Given the description of an element on the screen output the (x, y) to click on. 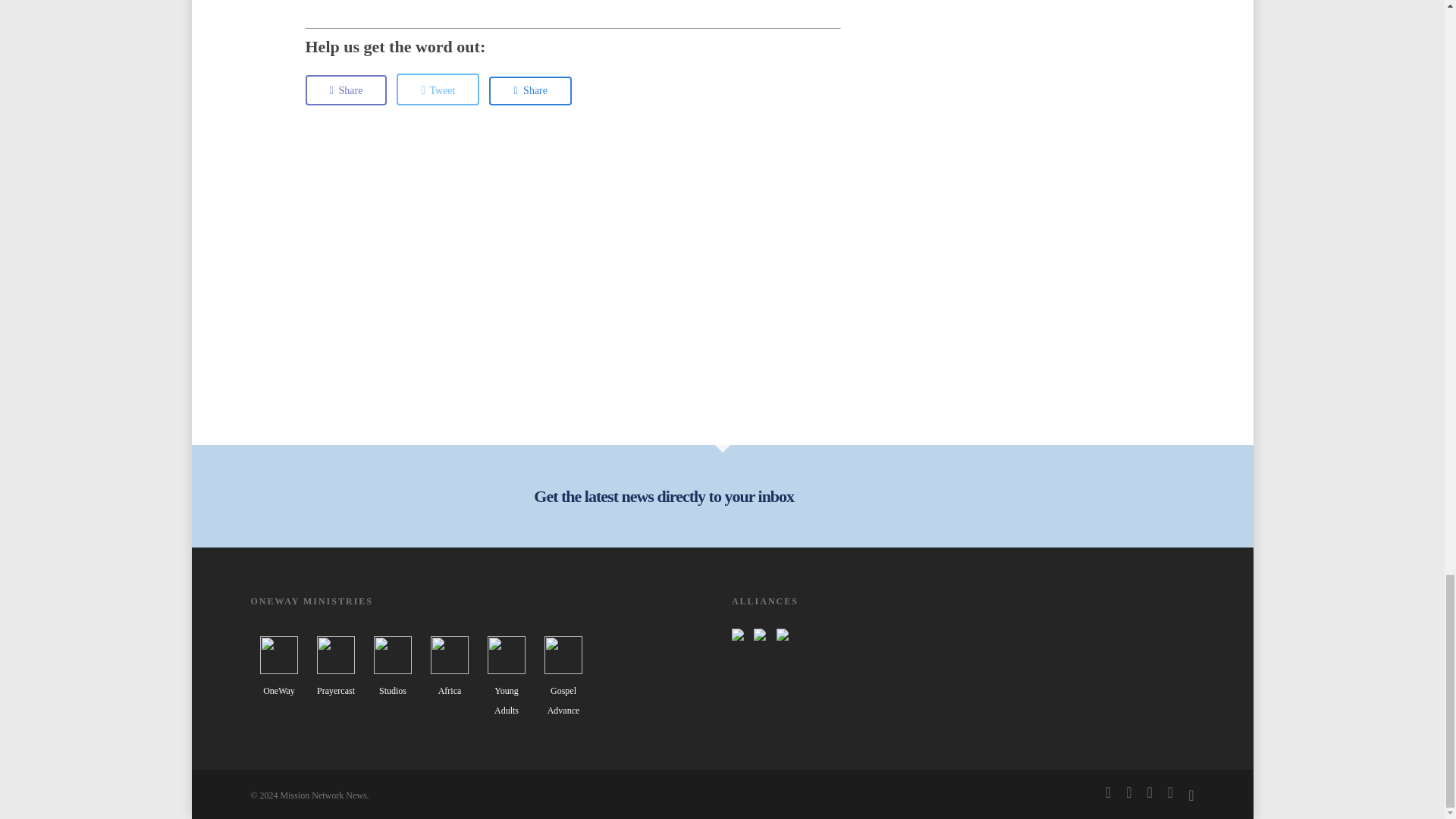
Share this (345, 90)
Share this (530, 90)
Tweet this (437, 89)
